Given the description of an element on the screen output the (x, y) to click on. 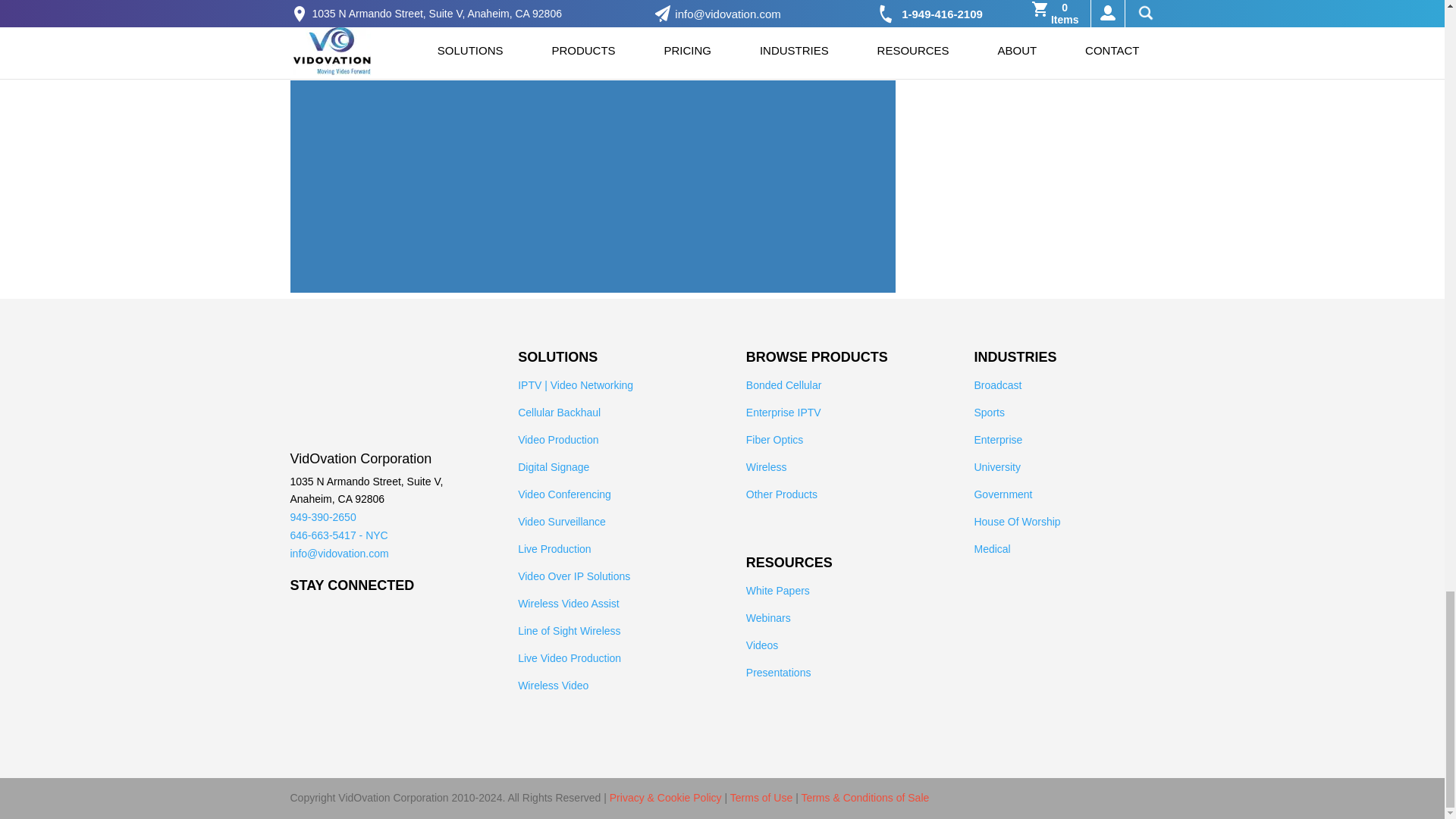
Wireless IP Fiber Video Experts on Facebook (301, 630)
Wireless IP Fiber Video Experts on Youtube (368, 630)
Jim Jachetta on Twitter (325, 630)
Wireless IP Fiber Video Experts on Google (392, 630)
Wireless IP Fiber Video Experts on LinkedIn (346, 630)
